Given the description of an element on the screen output the (x, y) to click on. 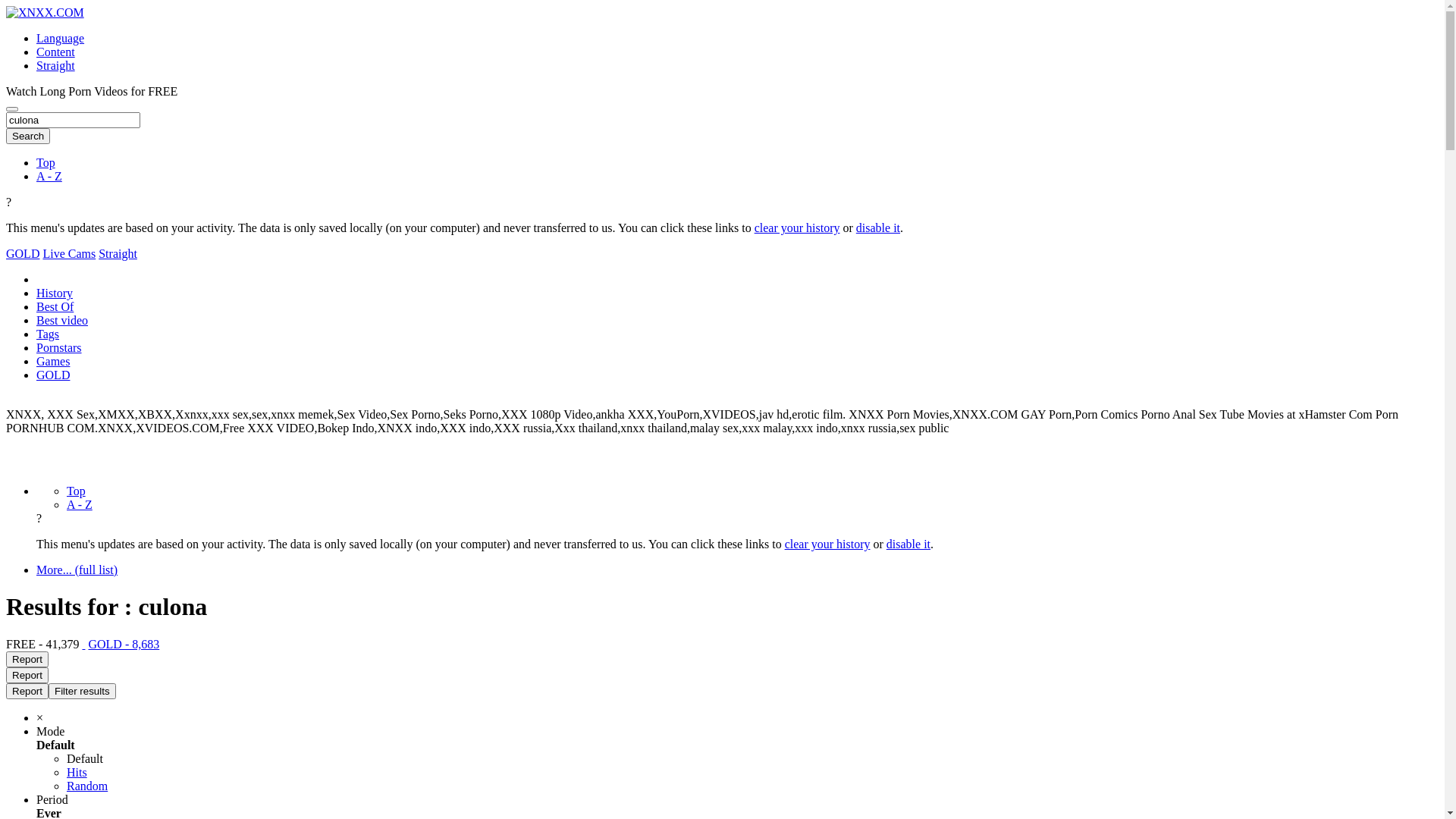
Best video Element type: text (61, 319)
Live Cams Element type: text (68, 253)
GOLD Element type: text (52, 374)
disable it Element type: text (908, 543)
Random Element type: text (86, 785)
clear your history Element type: text (797, 227)
A - Z Element type: text (79, 504)
Top Element type: text (75, 490)
Best Of Element type: text (54, 306)
More... (full list) Element type: text (76, 569)
Hits Element type: text (76, 771)
Report Element type: text (27, 675)
Pelajar Indonesia Element type: text (887, 448)
Straight Element type: text (117, 253)
Default Element type: text (84, 758)
GOLD Element type: text (22, 253)
Saudara Perempuan Tiri Element type: text (642, 448)
  Element type: text (82, 643)
Search Element type: text (28, 136)
Hukuman Element type: text (742, 448)
Top Element type: text (45, 162)
Pornstars Element type: text (58, 347)
Content Element type: text (55, 51)
History Element type: text (54, 292)
Sepupu Element type: text (807, 448)
A - Z Element type: text (49, 175)
disable it Element type: text (878, 227)
Straight Element type: text (55, 65)
GOLD - 8,683 Element type: text (123, 643)
clear your history Element type: text (827, 543)
Report Element type: text (27, 659)
Report Element type: text (27, 691)
Games Element type: text (52, 360)
Pelajar Indonesia Element type: text (987, 448)
Language Element type: text (60, 37)
Filter results Element type: text (82, 691)
Sedang tidur Element type: text (537, 448)
Tags Element type: text (47, 333)
